Given the description of an element on the screen output the (x, y) to click on. 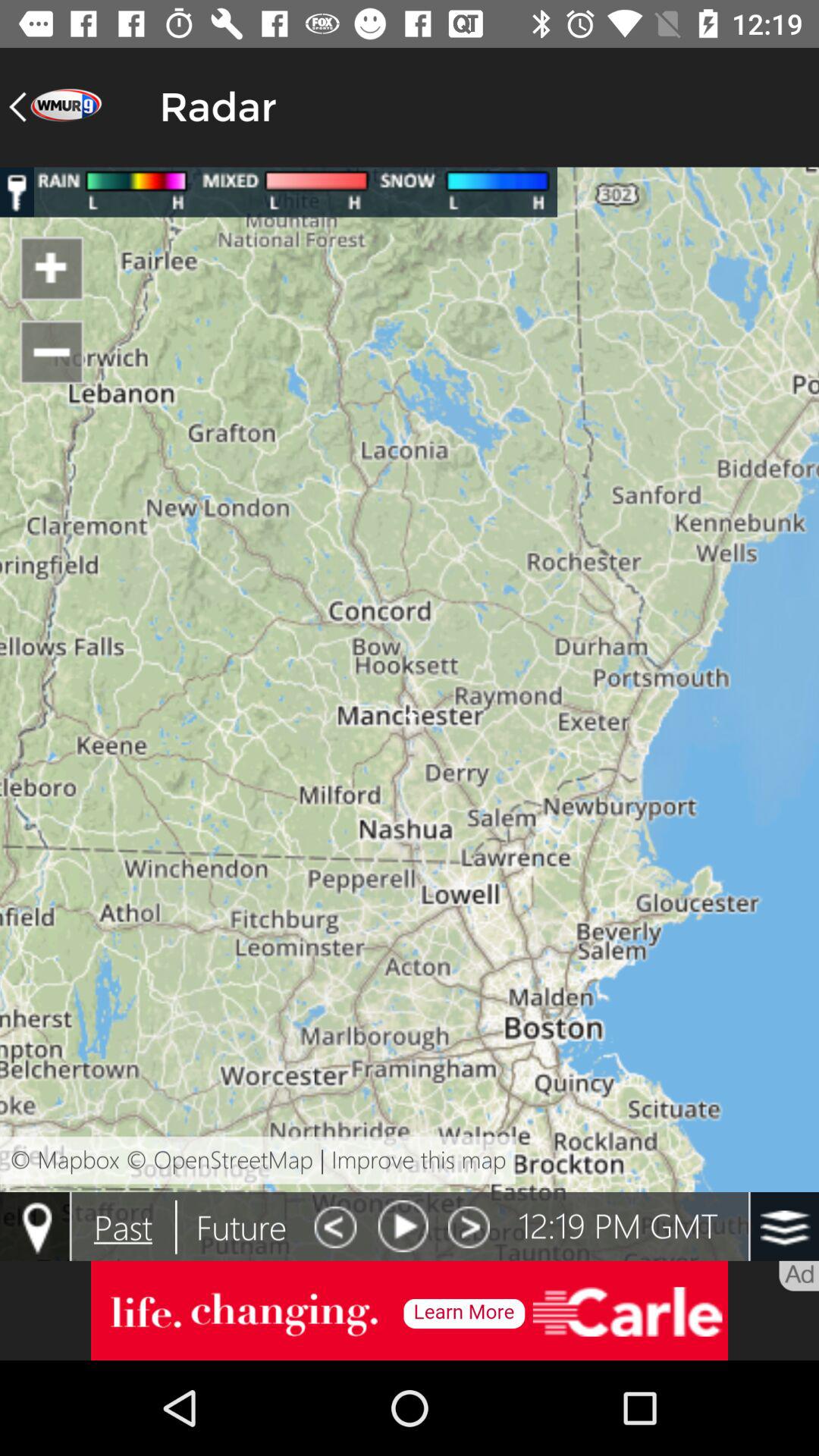
map page (409, 713)
